Given the description of an element on the screen output the (x, y) to click on. 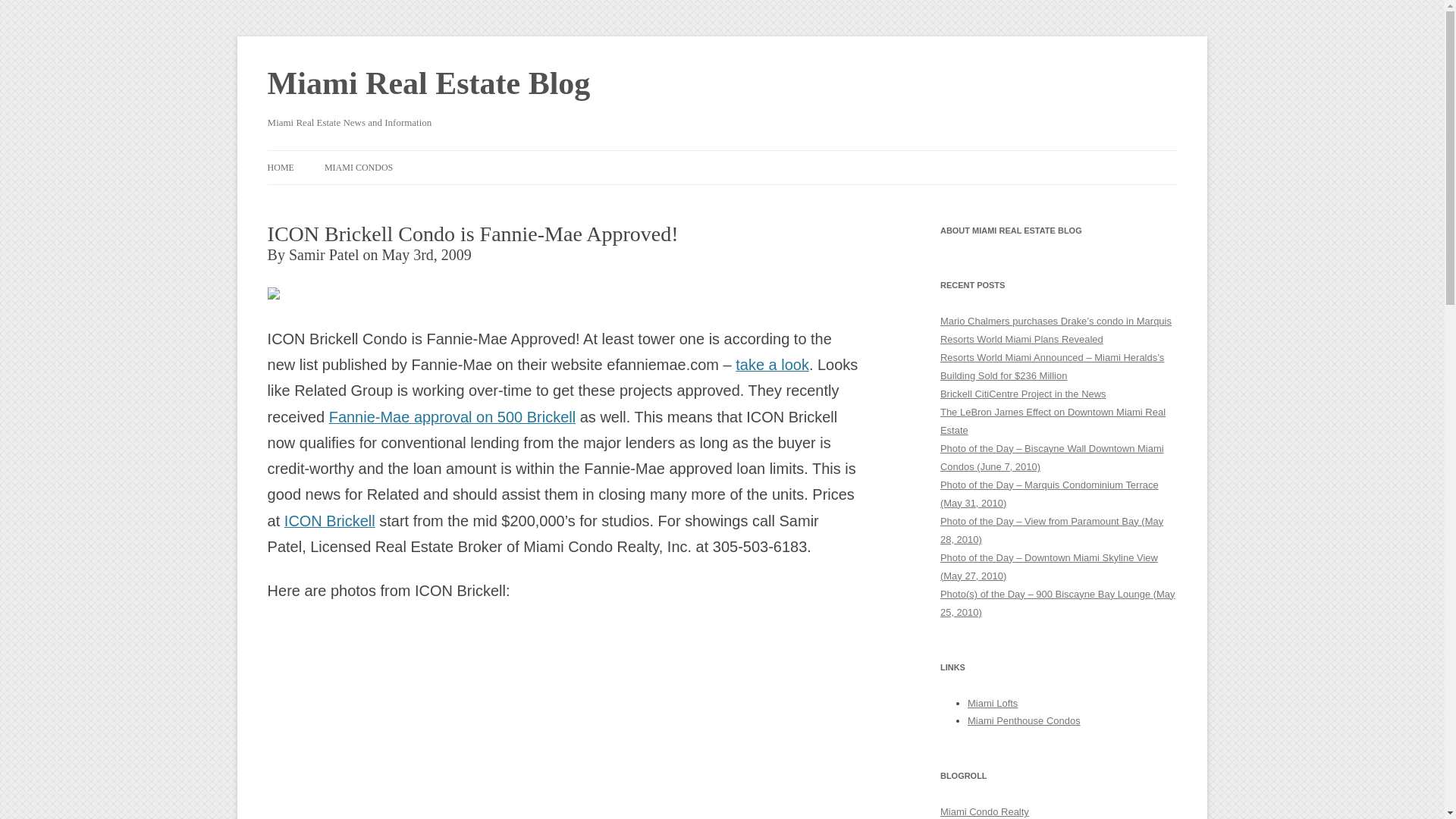
Skip to content (767, 158)
Miami Penthouse Condos for Sale and Lease (1024, 720)
Skip to content (767, 158)
Miami Penthouse Condos (1024, 720)
Fannie-Mae approval on 500 Brickell (452, 416)
MIAMI CONDOS (358, 166)
Miami Lofts (992, 703)
take a look (772, 364)
Resorts World Miami Plans Revealed (1021, 338)
Miami Condo Realty (984, 811)
